Given the description of an element on the screen output the (x, y) to click on. 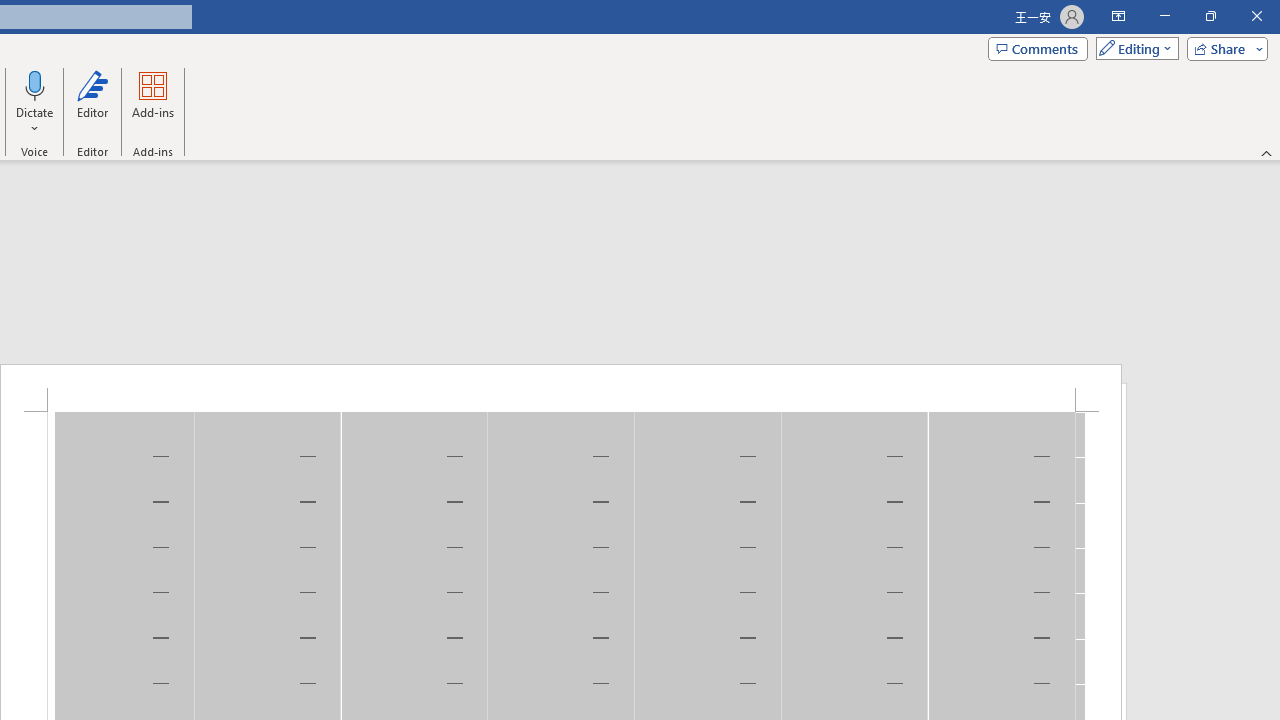
Mode (1133, 47)
Editor (92, 102)
Header -Section 1- (561, 387)
